Given the description of an element on the screen output the (x, y) to click on. 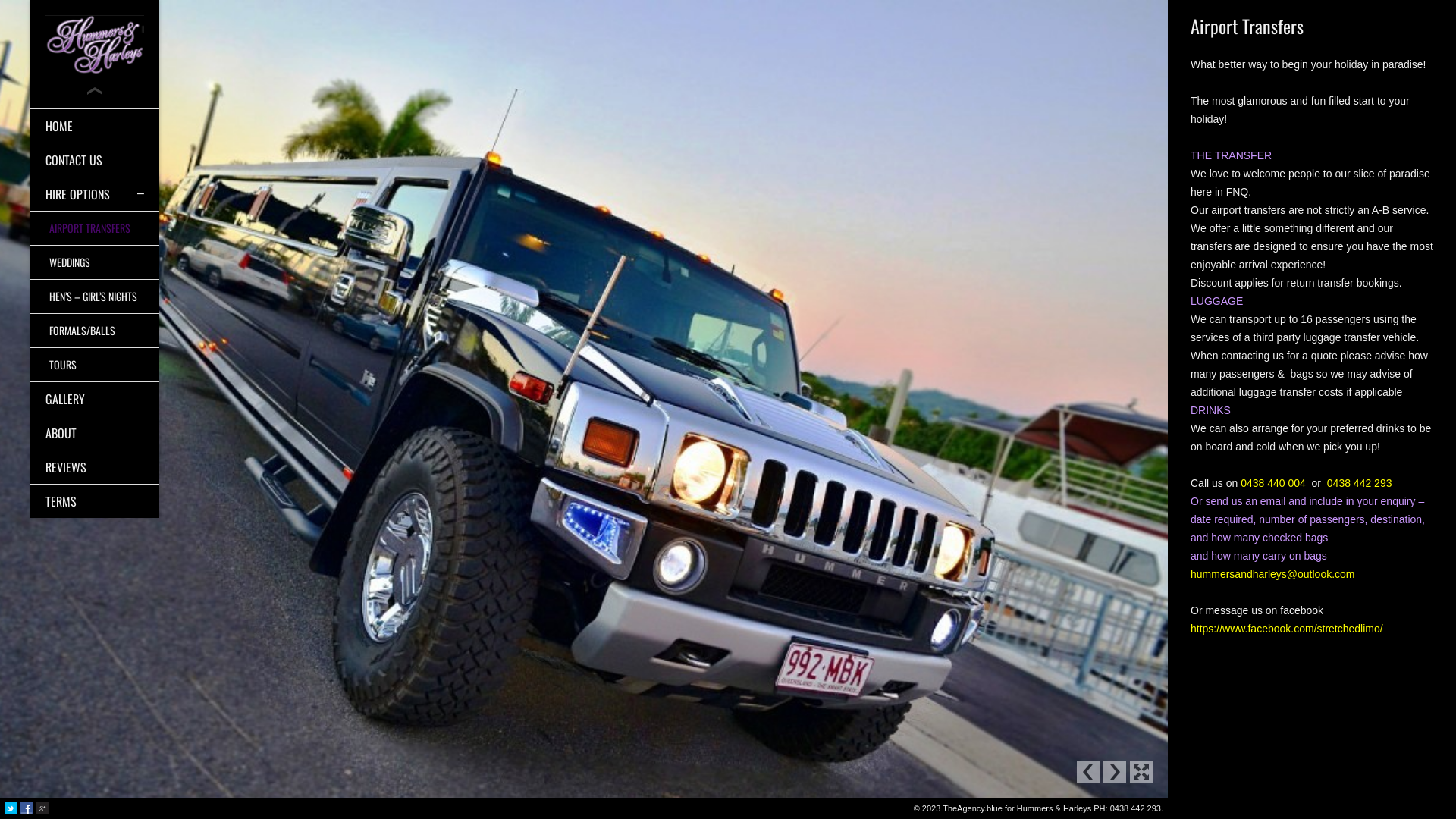
AIRPORT TRANSFERS Element type: text (94, 227)
ABOUT Element type: text (94, 432)
WEDDINGS Element type: text (94, 262)
GALLERY Element type: text (94, 398)
HOME Element type: text (94, 125)
TOURS Element type: text (94, 364)
https://www.facebook.com/stretchedlimo/ Element type: text (1286, 628)
TERMS Element type: text (94, 500)
hummersandharleys@outlook.com Element type: text (1272, 573)
HIRE OPTIONS Element type: text (94, 193)
FORMALS/BALLS Element type: text (94, 330)
REVIEWS Element type: text (94, 466)
CONTACT US Element type: text (94, 159)
